Given the description of an element on the screen output the (x, y) to click on. 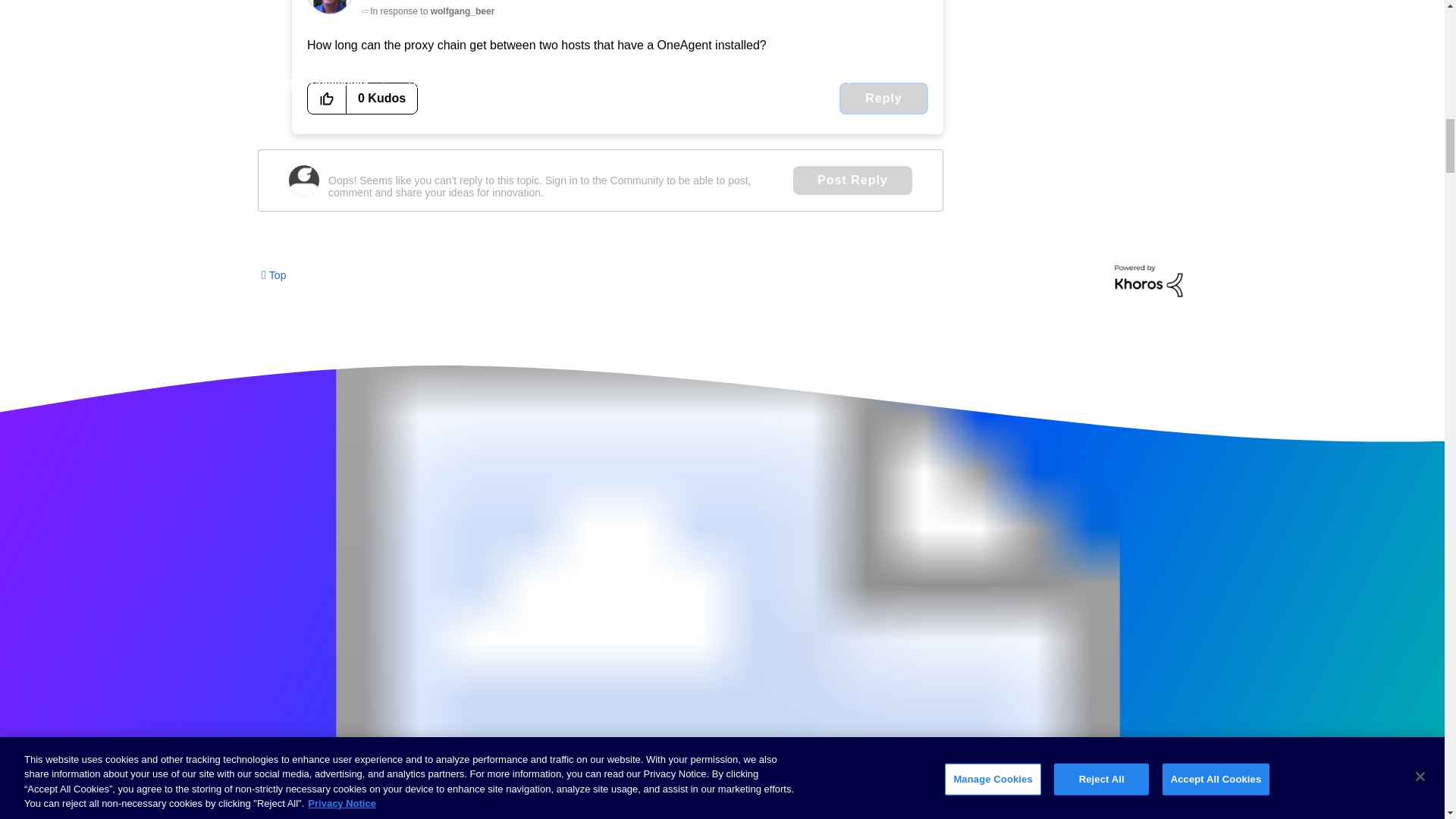
Top (273, 274)
Top (273, 274)
